Given the description of an element on the screen output the (x, y) to click on. 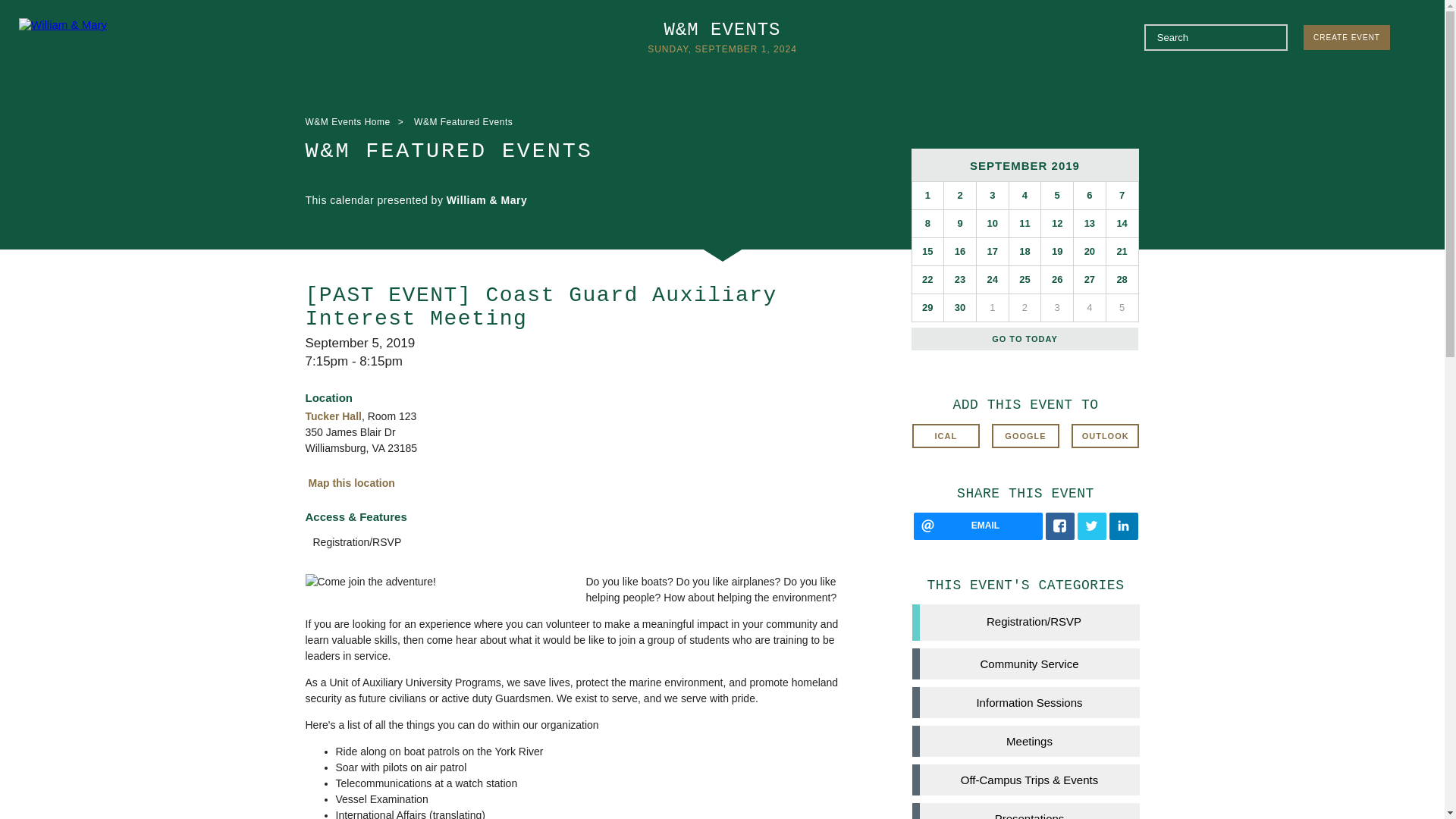
8 (927, 222)
CREATE EVENT (1346, 37)
PREVIOUS MONTH (939, 163)
3 (992, 195)
Submit Search (1270, 36)
7 (1122, 195)
12 (1057, 222)
1 (927, 195)
14 (1122, 222)
13 (1089, 222)
